Given the description of an element on the screen output the (x, y) to click on. 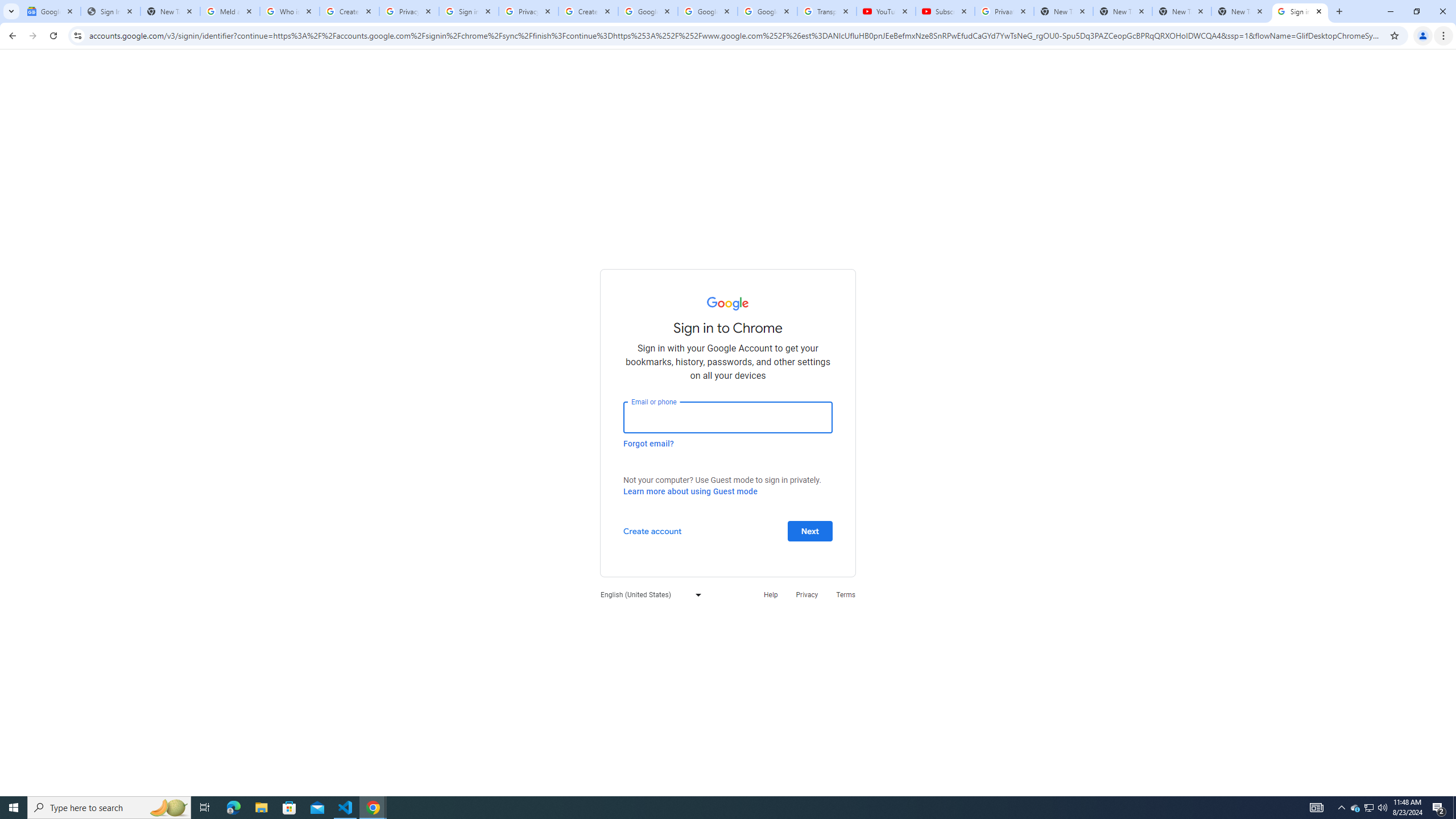
Sign in - Google Accounts (468, 11)
Google News (50, 11)
Sign in - Google Accounts (1300, 11)
YouTube (885, 11)
Sign In - USA TODAY (110, 11)
Email or phone (727, 417)
